Given the description of an element on the screen output the (x, y) to click on. 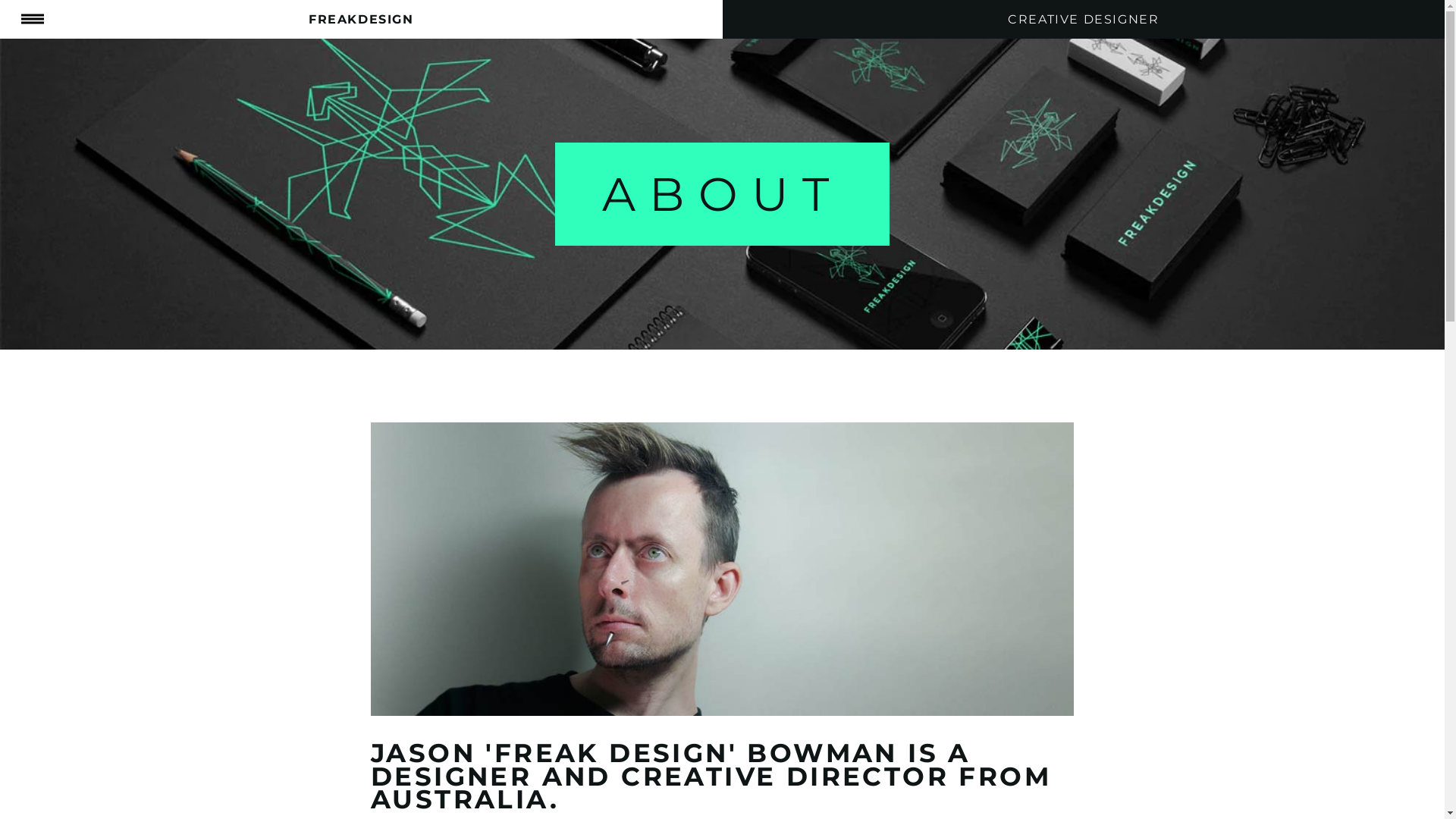
FREAKDESIGN Element type: text (361, 19)
